Given the description of an element on the screen output the (x, y) to click on. 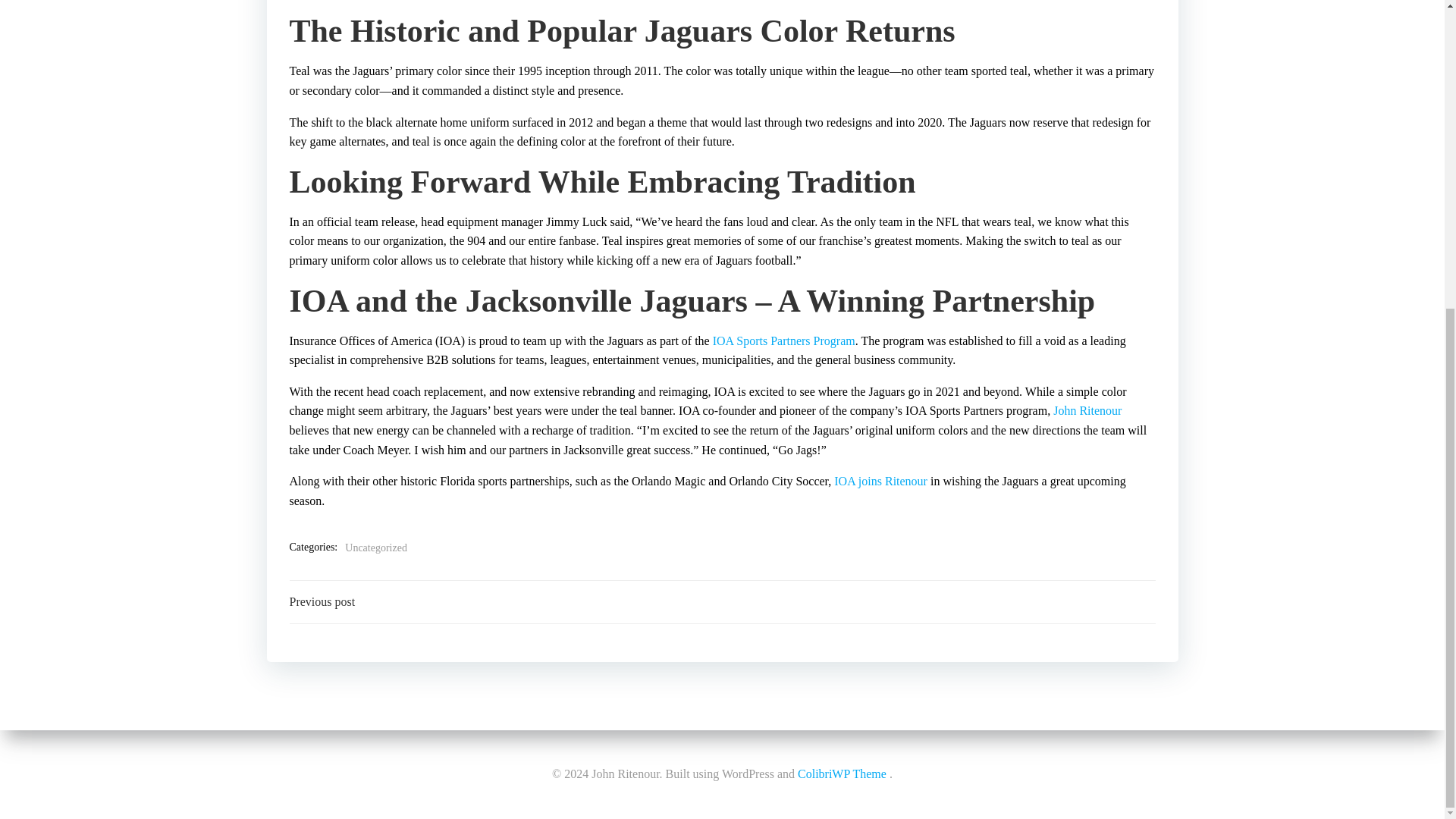
John Ritenour (1086, 410)
Uncategorized (376, 547)
IOA joins Ritenour (880, 481)
Previous post (322, 601)
ColibriWP Theme (841, 286)
IOA Sports Partners Program (784, 340)
